Given the description of an element on the screen output the (x, y) to click on. 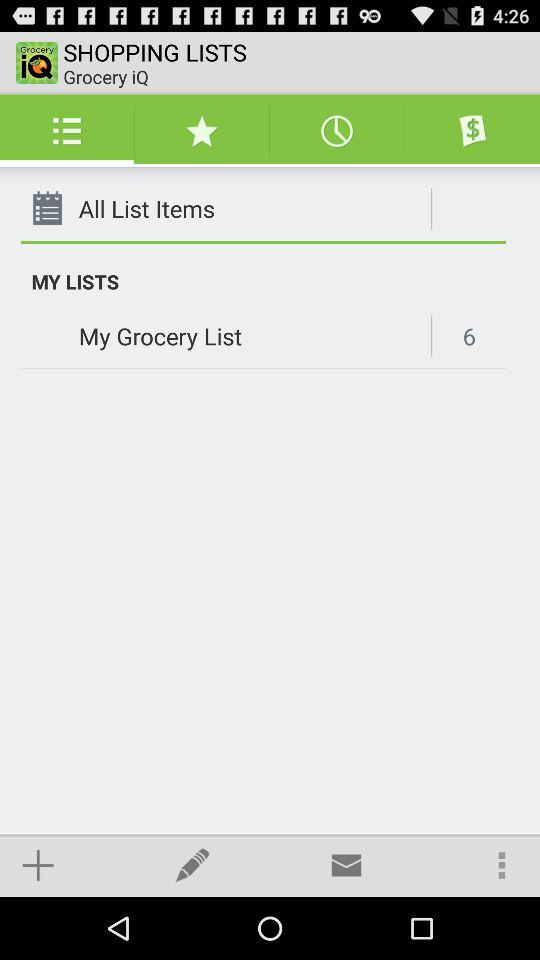
turn off item at the bottom left corner (38, 864)
